Given the description of an element on the screen output the (x, y) to click on. 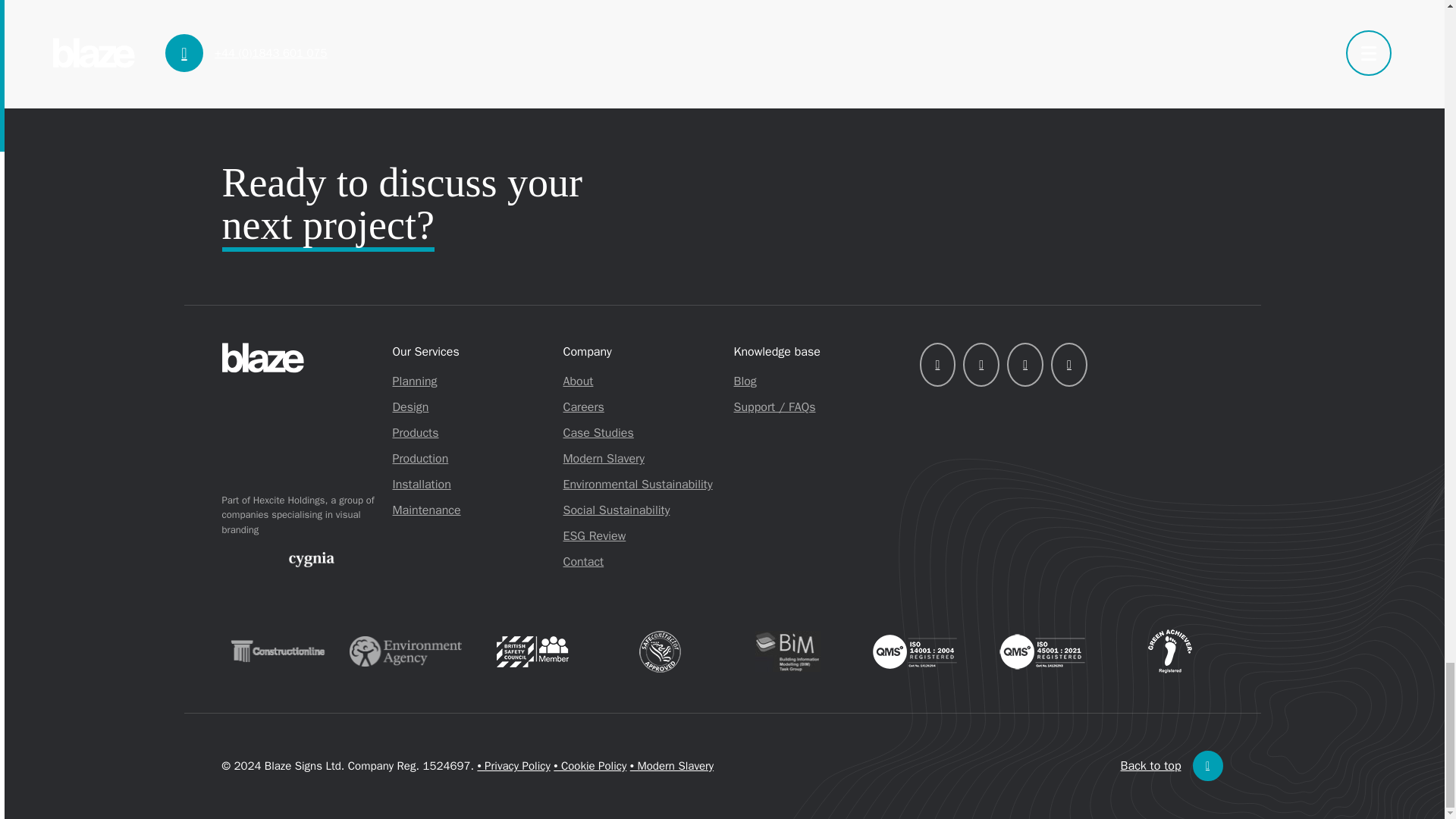
Blaze Signs (299, 358)
Back to top (1172, 766)
